Given the description of an element on the screen output the (x, y) to click on. 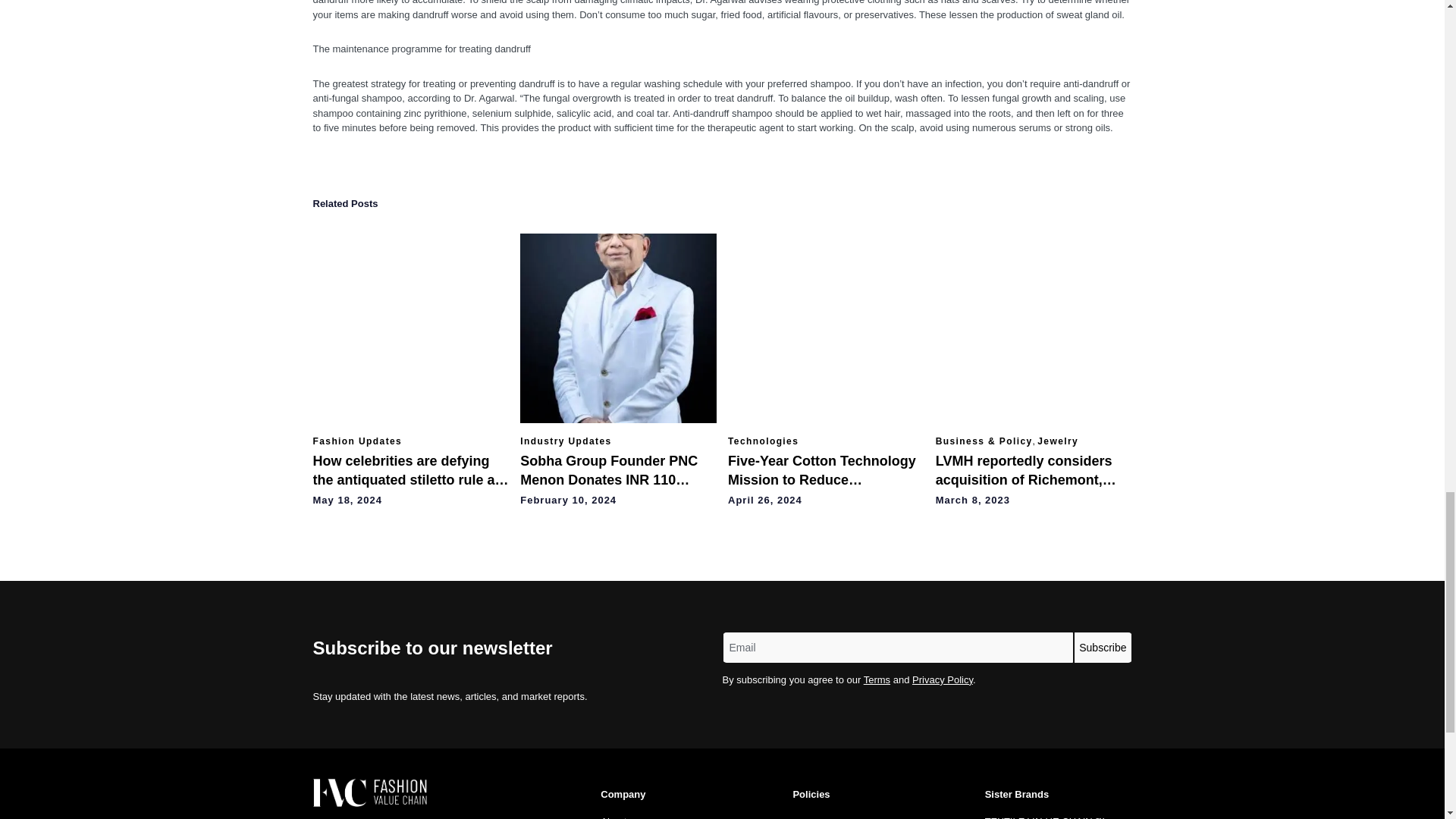
Subscribe (1102, 647)
